Given the description of an element on the screen output the (x, y) to click on. 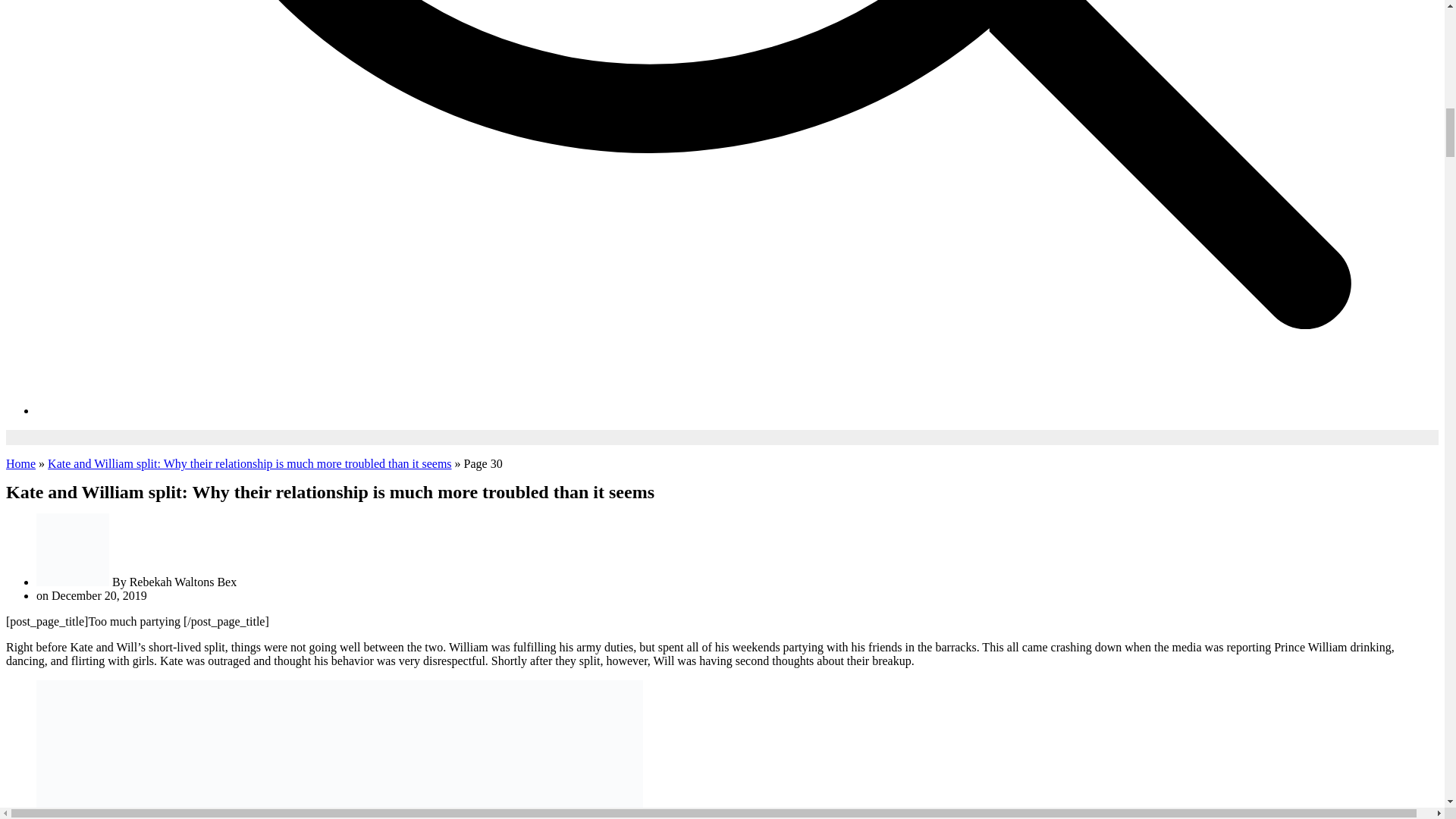
Home (19, 463)
